Given the description of an element on the screen output the (x, y) to click on. 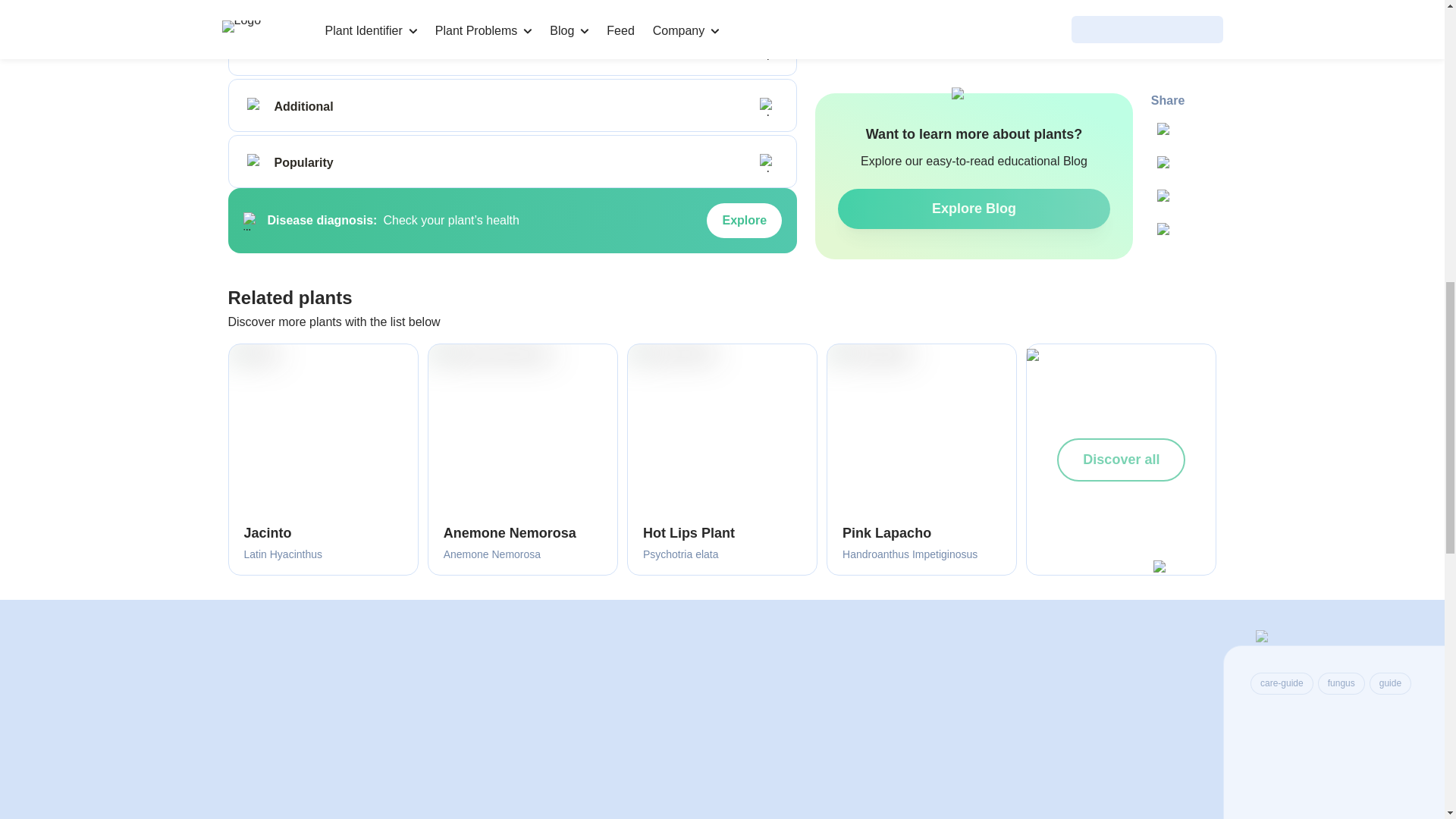
Explore (743, 220)
Soil (255, 50)
Additional (255, 106)
Popularity (255, 162)
Sunlight (255, 2)
